Given the description of an element on the screen output the (x, y) to click on. 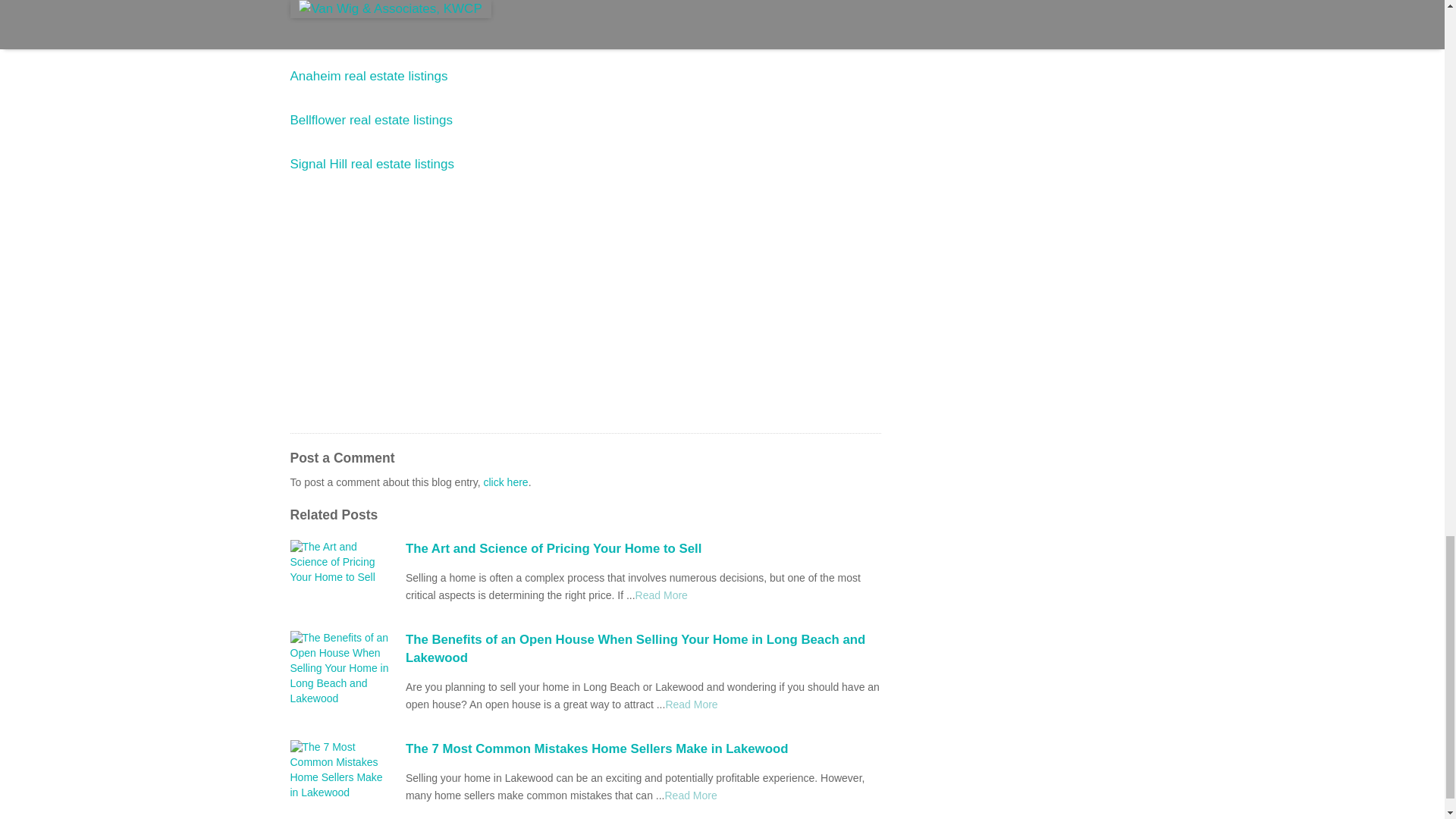
3 Ways to Speed Up Closing When Selling Your Home      (689, 795)
3 Ways to Speed Up Closing When Selling Your Home      (660, 594)
The Art and Science of Pricing Your Home to Sell (643, 548)
3 Ways to Speed Up Closing When Selling Your Home      (691, 704)
The 7 Most Common Mistakes Home Sellers Make in Lakewood (643, 749)
